Given the description of an element on the screen output the (x, y) to click on. 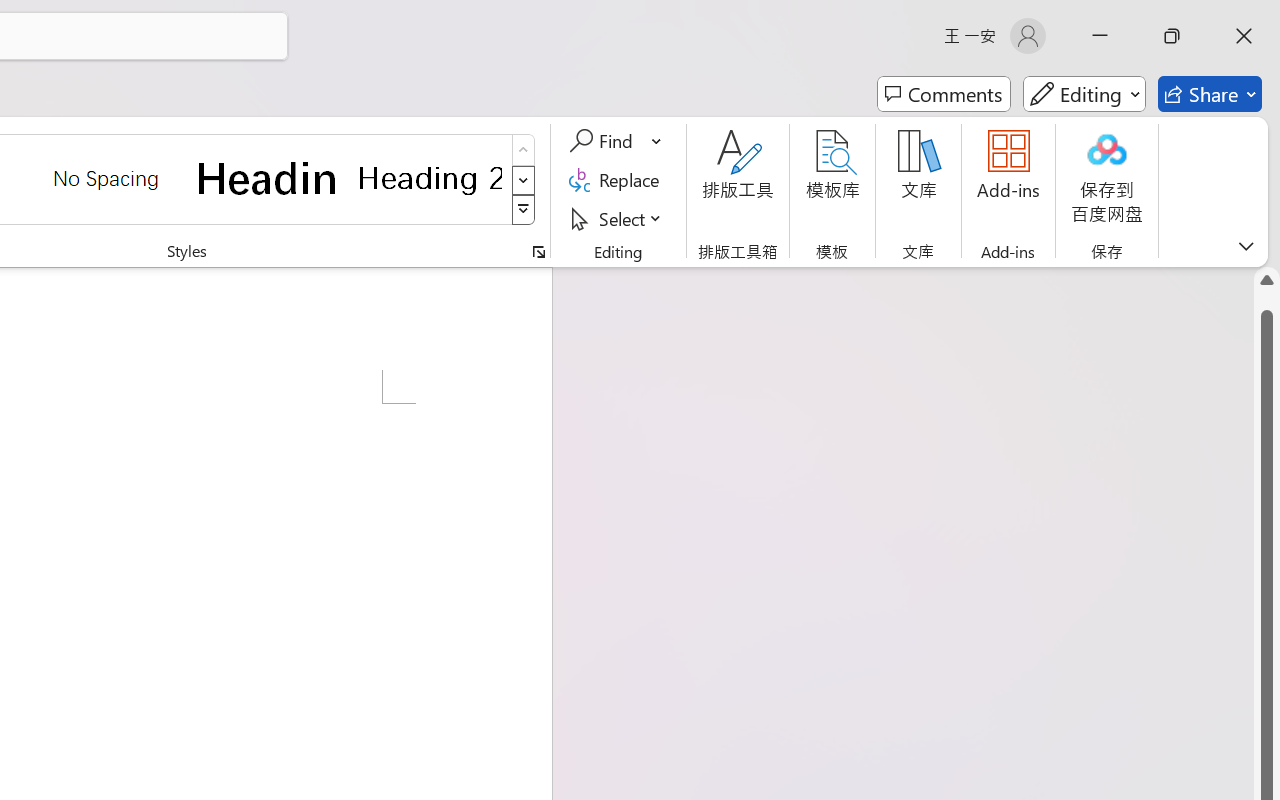
Row Down (523, 180)
Select (618, 218)
Row up (523, 150)
Styles (523, 209)
Line up (1267, 279)
Styles... (538, 252)
